Given the description of an element on the screen output the (x, y) to click on. 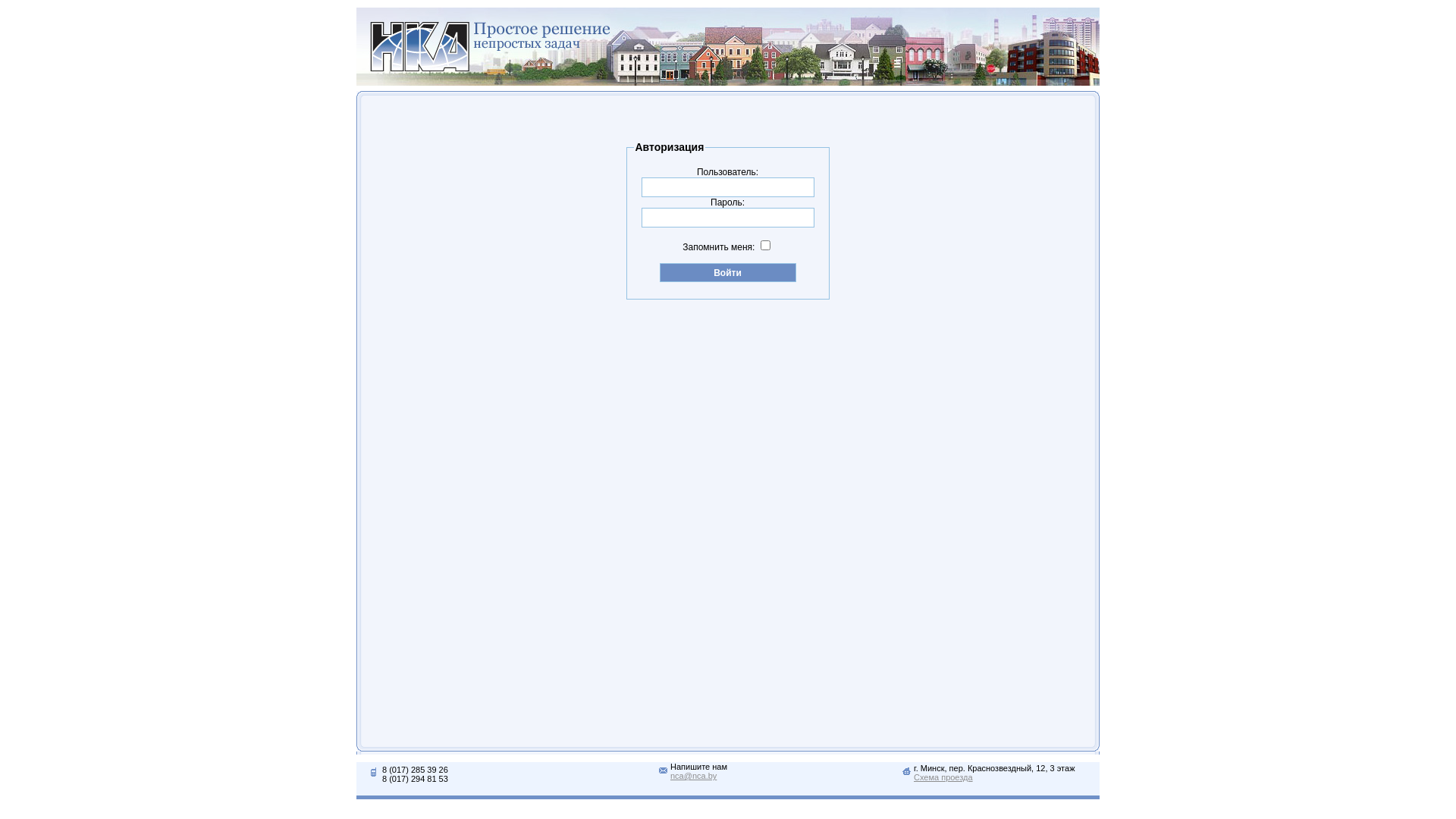
nca@nca.by Element type: text (693, 775)
